Given the description of an element on the screen output the (x, y) to click on. 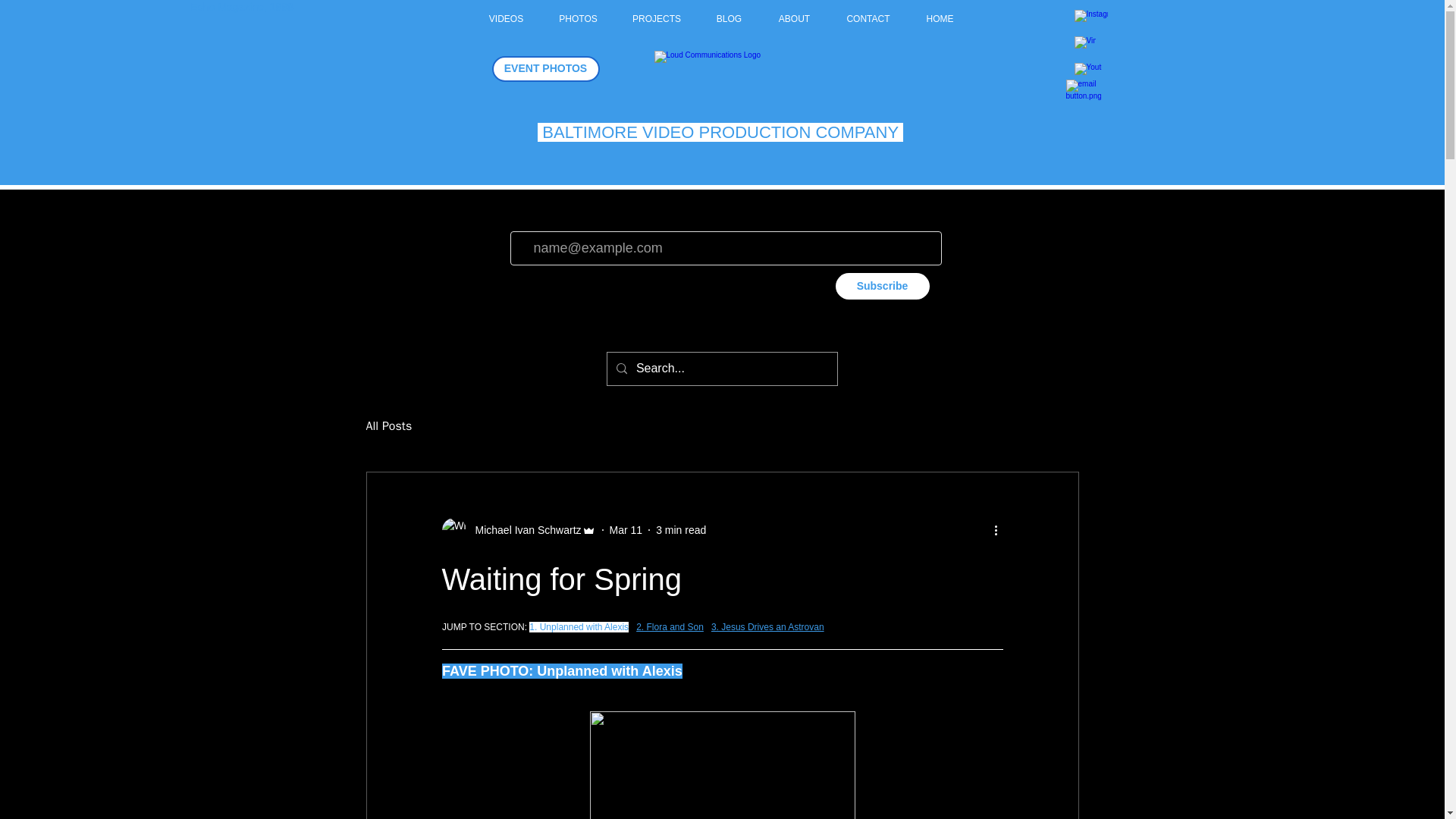
3 min read (681, 530)
ABOUT (794, 18)
Subscribe (882, 285)
 BALTIMORE VIDEO PRODUCTION COMPANY  (719, 131)
HOME (940, 18)
PHOTOS (578, 18)
All Posts (388, 426)
Mar 11 (626, 530)
CONTACT (867, 18)
EVENT PHOTOS (545, 68)
